Given the description of an element on the screen output the (x, y) to click on. 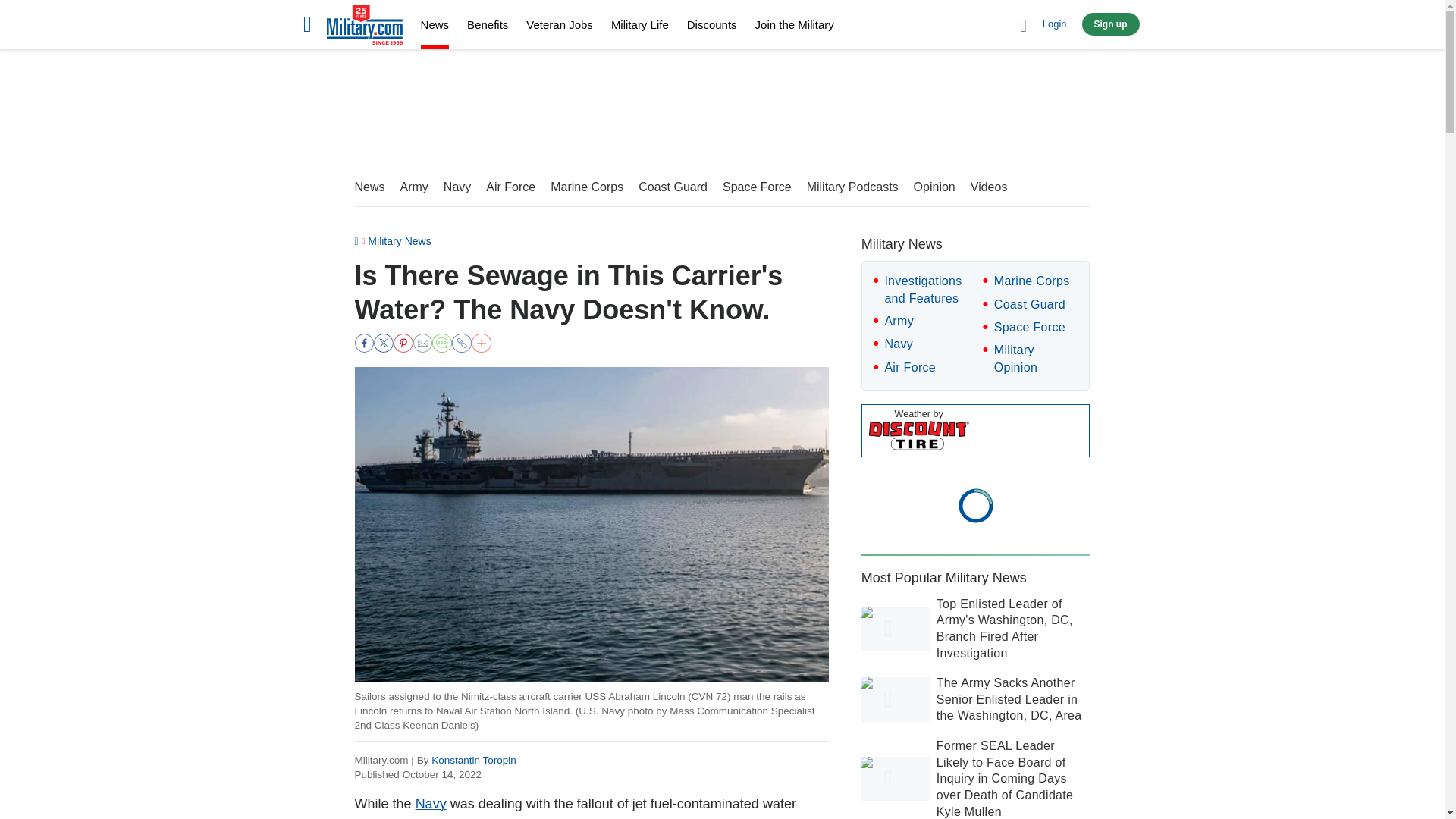
Home (364, 27)
Veteran Jobs (558, 24)
Benefits (487, 24)
Military Life (639, 24)
